Given the description of an element on the screen output the (x, y) to click on. 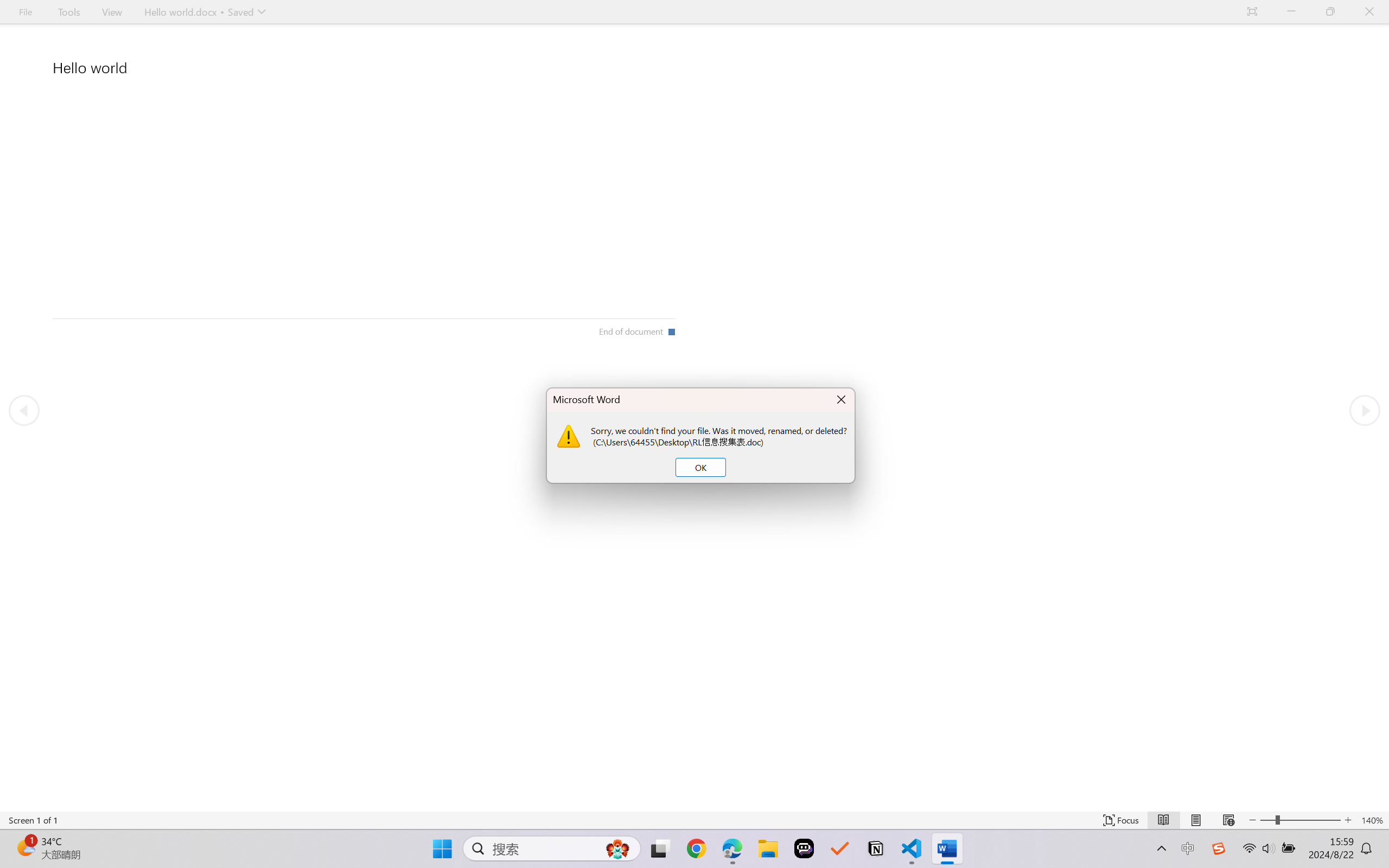
Notion (875, 848)
Class: Static (568, 436)
AutomationID: DynamicSearchBoxGleamImage (617, 848)
View (112, 11)
Minimize (1291, 11)
Zoom Out (1267, 819)
OK (700, 467)
